Given the description of an element on the screen output the (x, y) to click on. 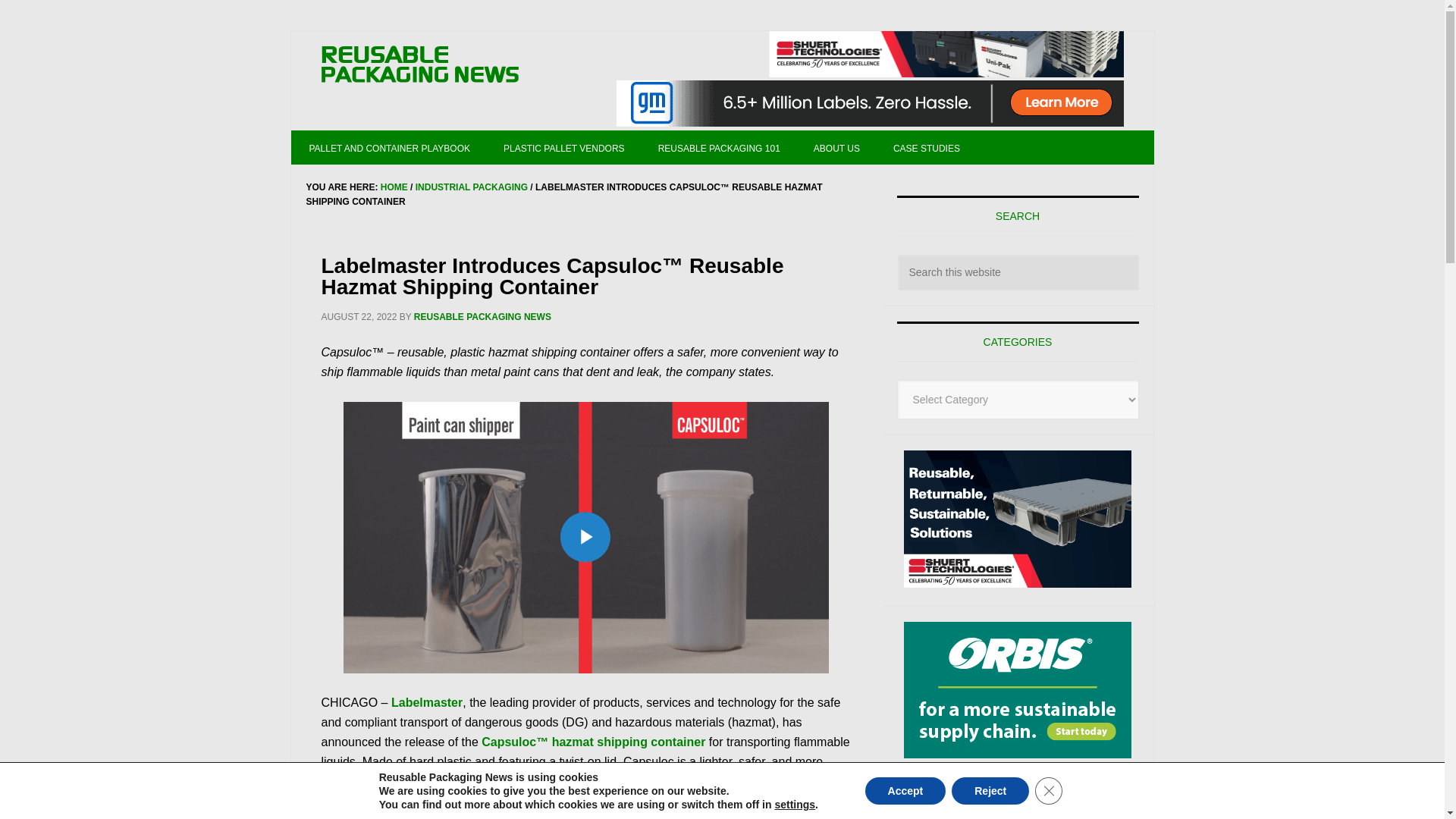
HOME (393, 186)
REUSABLE PACKAGING NEWS (419, 65)
REUSABLE PACKAGING 101 (718, 147)
PLASTIC PALLET VENDORS (563, 147)
REUSABLE PACKAGING NEWS (482, 317)
Shuert (1017, 519)
INDUSTRIAL PACKAGING (470, 186)
CASE STUDIES (926, 147)
Labelmaster (427, 702)
PALLET AND CONTAINER PLAYBOOK (390, 147)
